Given the description of an element on the screen output the (x, y) to click on. 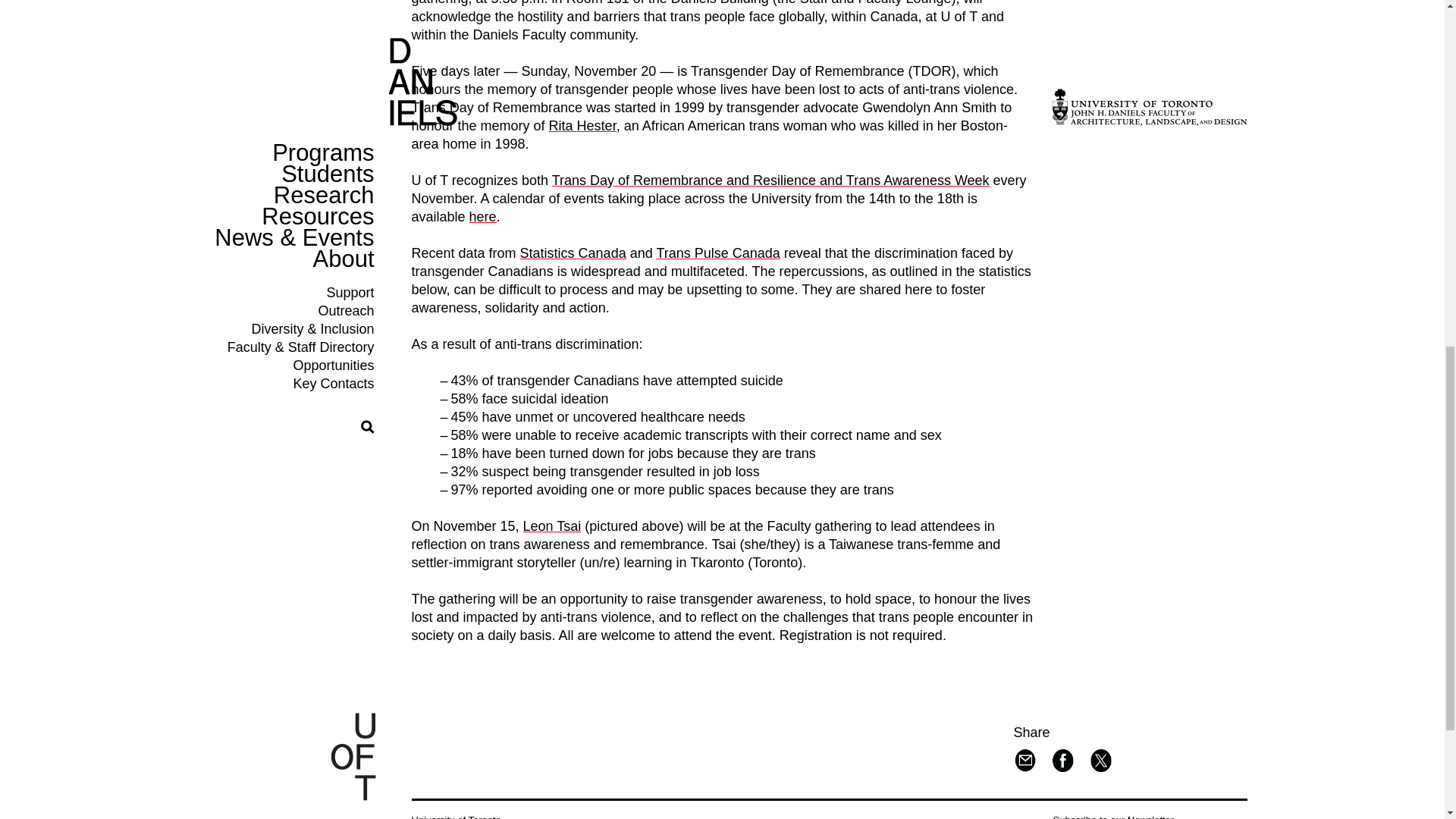
Leon Tsai (551, 525)
Trans Pulse Canada (717, 253)
Rita Hester (581, 125)
Statistics Canada (572, 253)
here (482, 216)
